Given the description of an element on the screen output the (x, y) to click on. 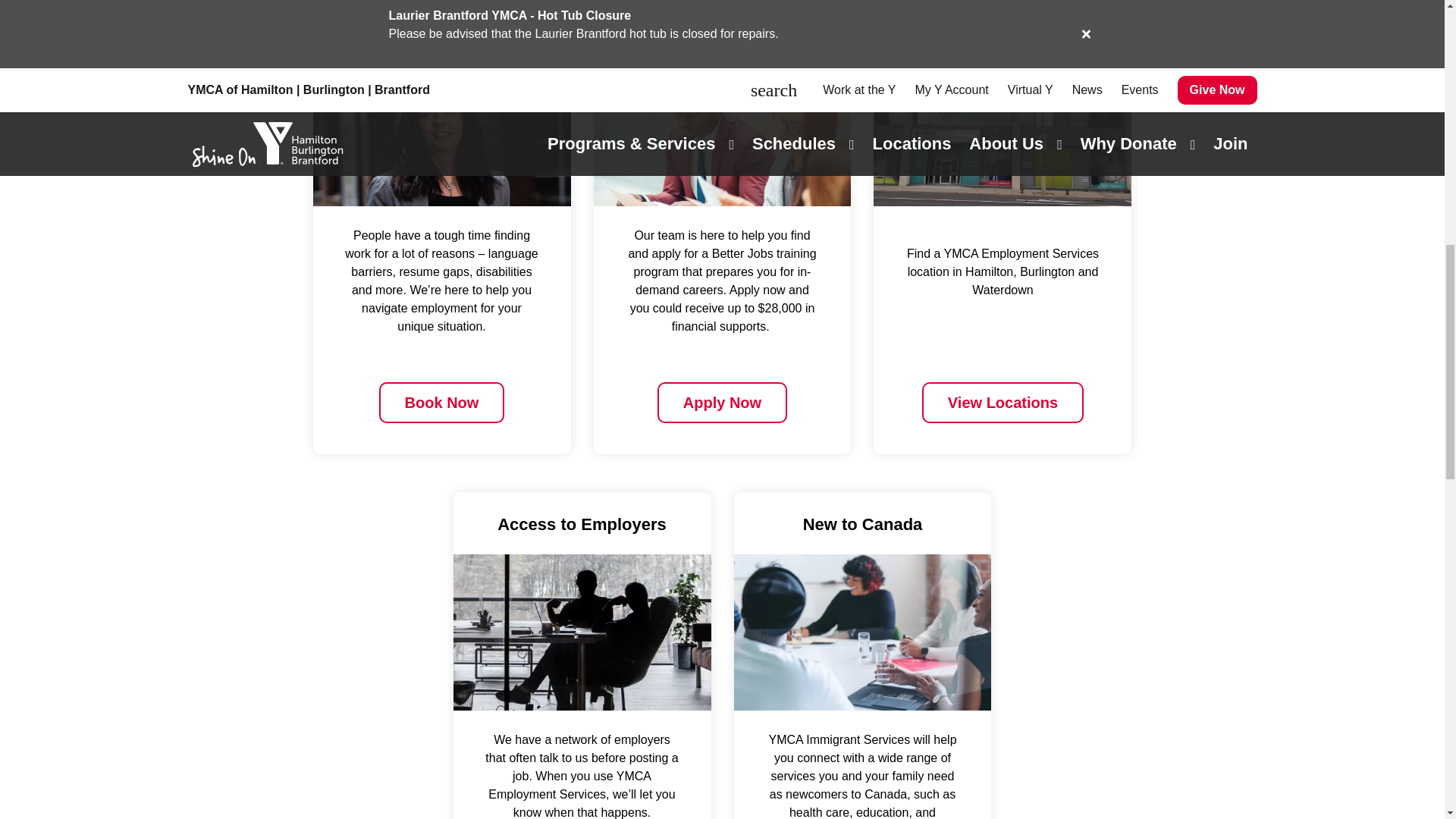
Book Now (441, 402)
View Locations (1002, 402)
Apply Now (722, 402)
